Given the description of an element on the screen output the (x, y) to click on. 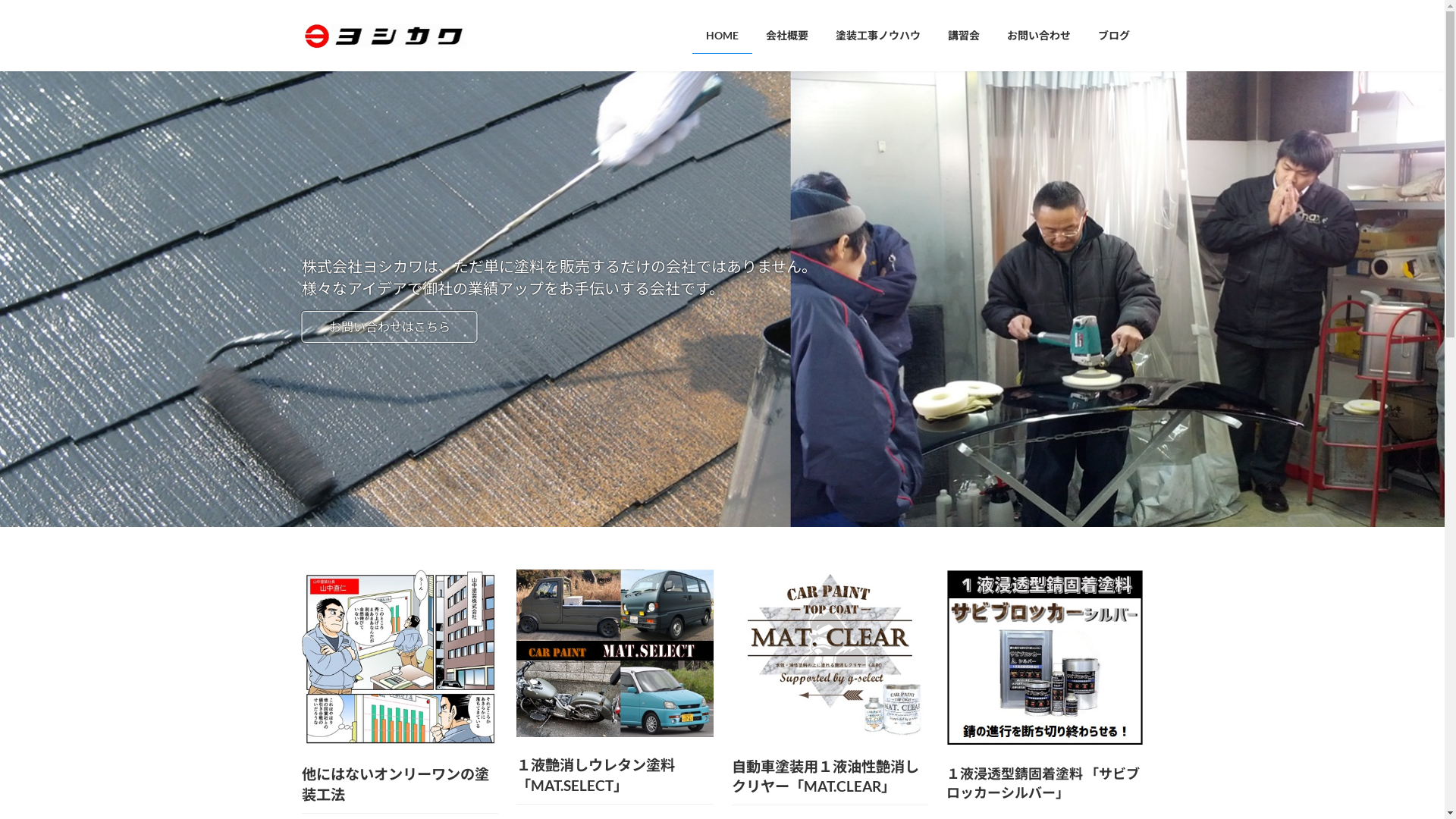
HOME Element type: text (721, 35)
